Given the description of an element on the screen output the (x, y) to click on. 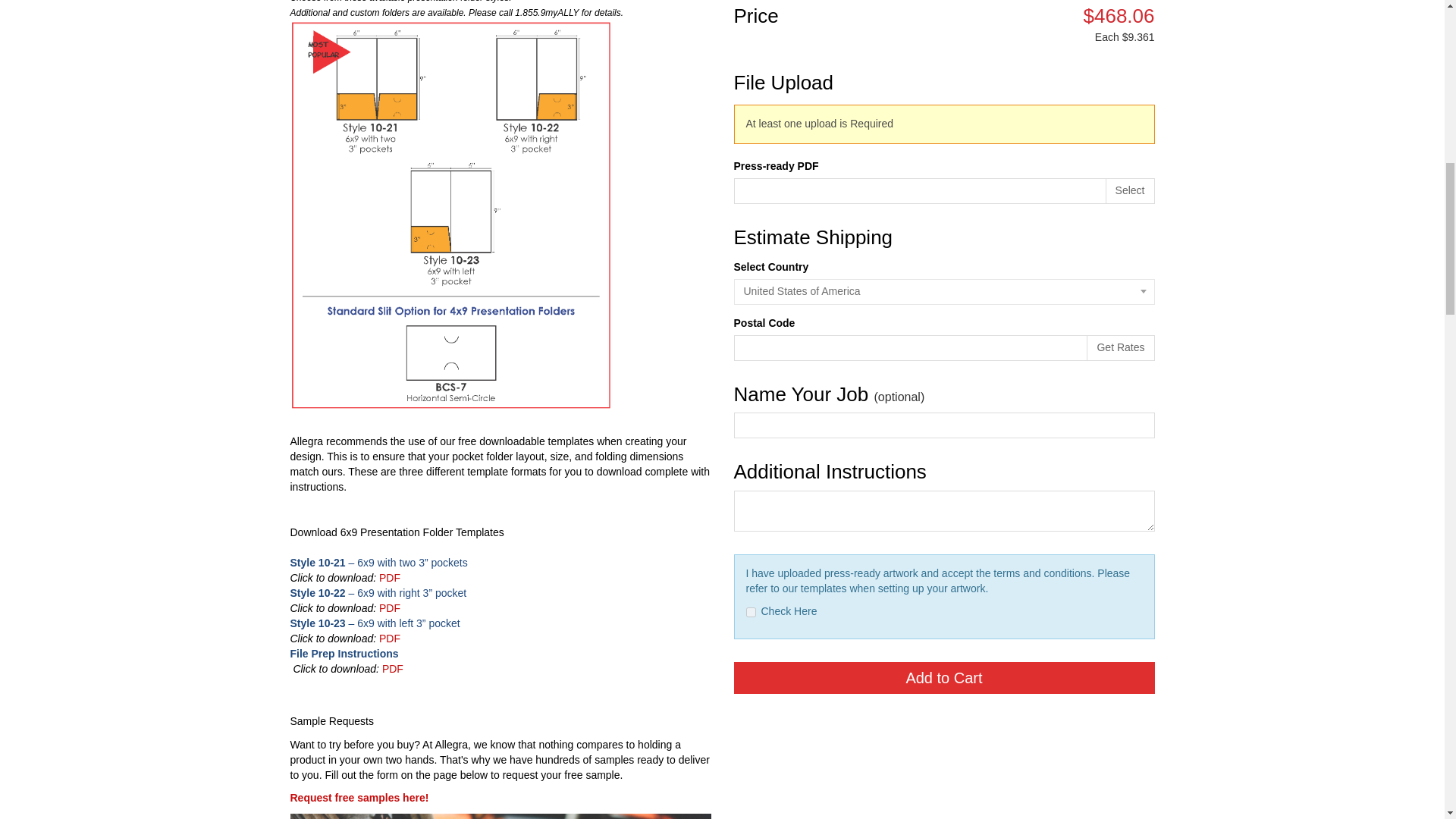
Get Rates (1120, 347)
Add to Cart (943, 677)
on (750, 612)
